Given the description of an element on the screen output the (x, y) to click on. 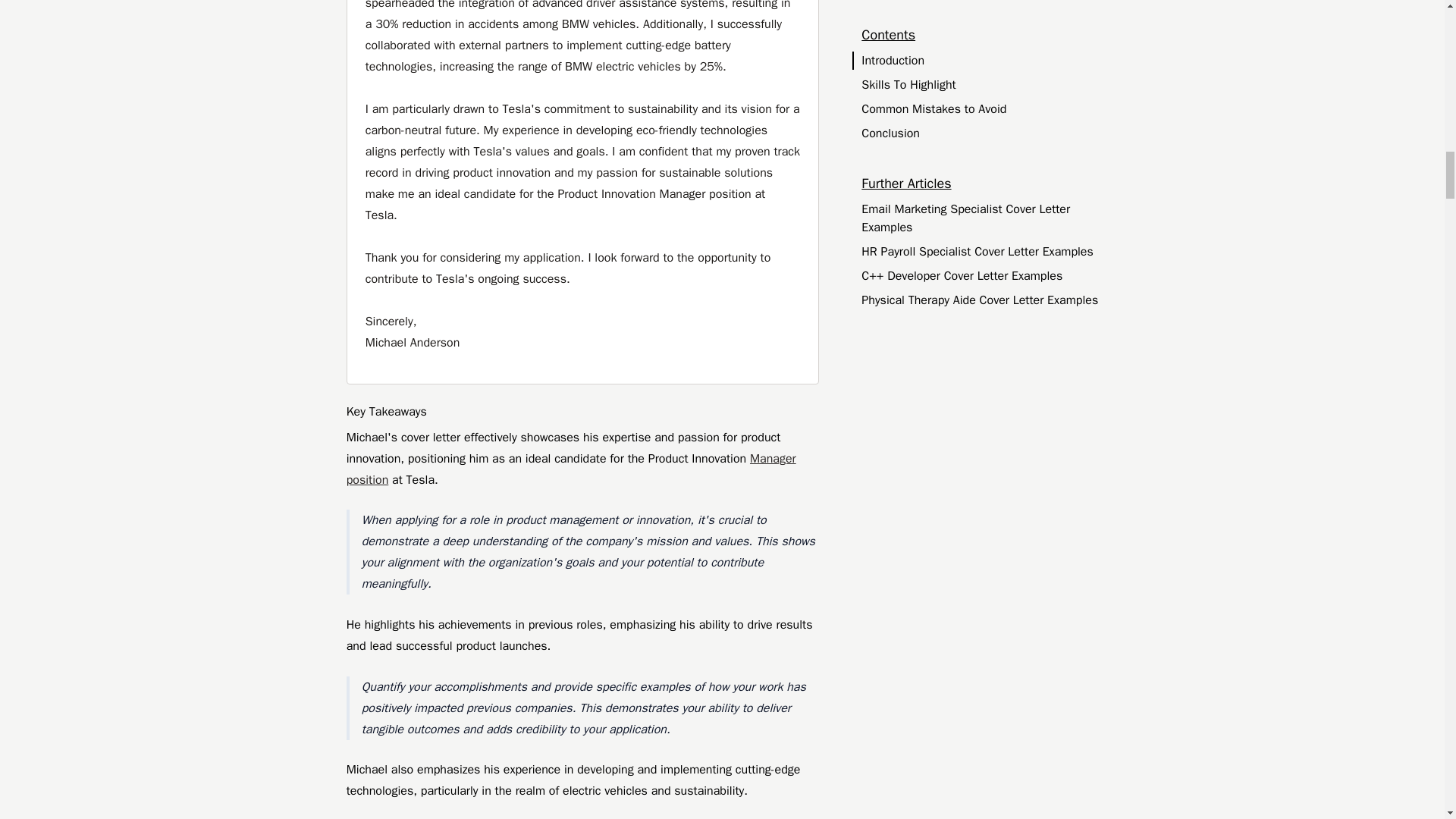
Manager position (571, 469)
